Given the description of an element on the screen output the (x, y) to click on. 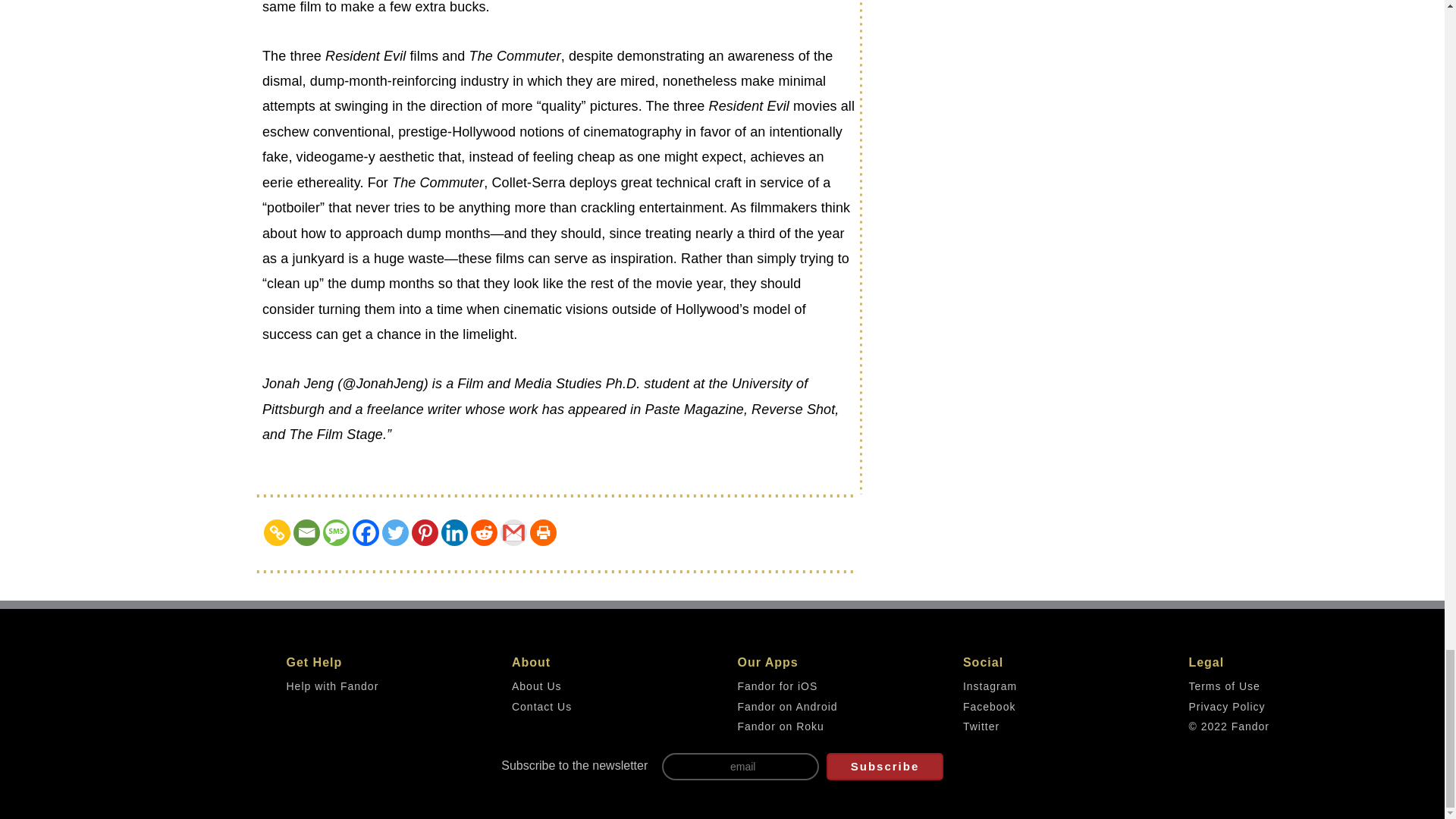
Copy Link (276, 532)
Google Gmail (513, 532)
SMS (336, 532)
Linkedin (454, 532)
Email (307, 532)
Pinterest (425, 532)
Reddit (483, 532)
Print (542, 532)
Facebook (365, 532)
Twitter (395, 532)
